Given the description of an element on the screen output the (x, y) to click on. 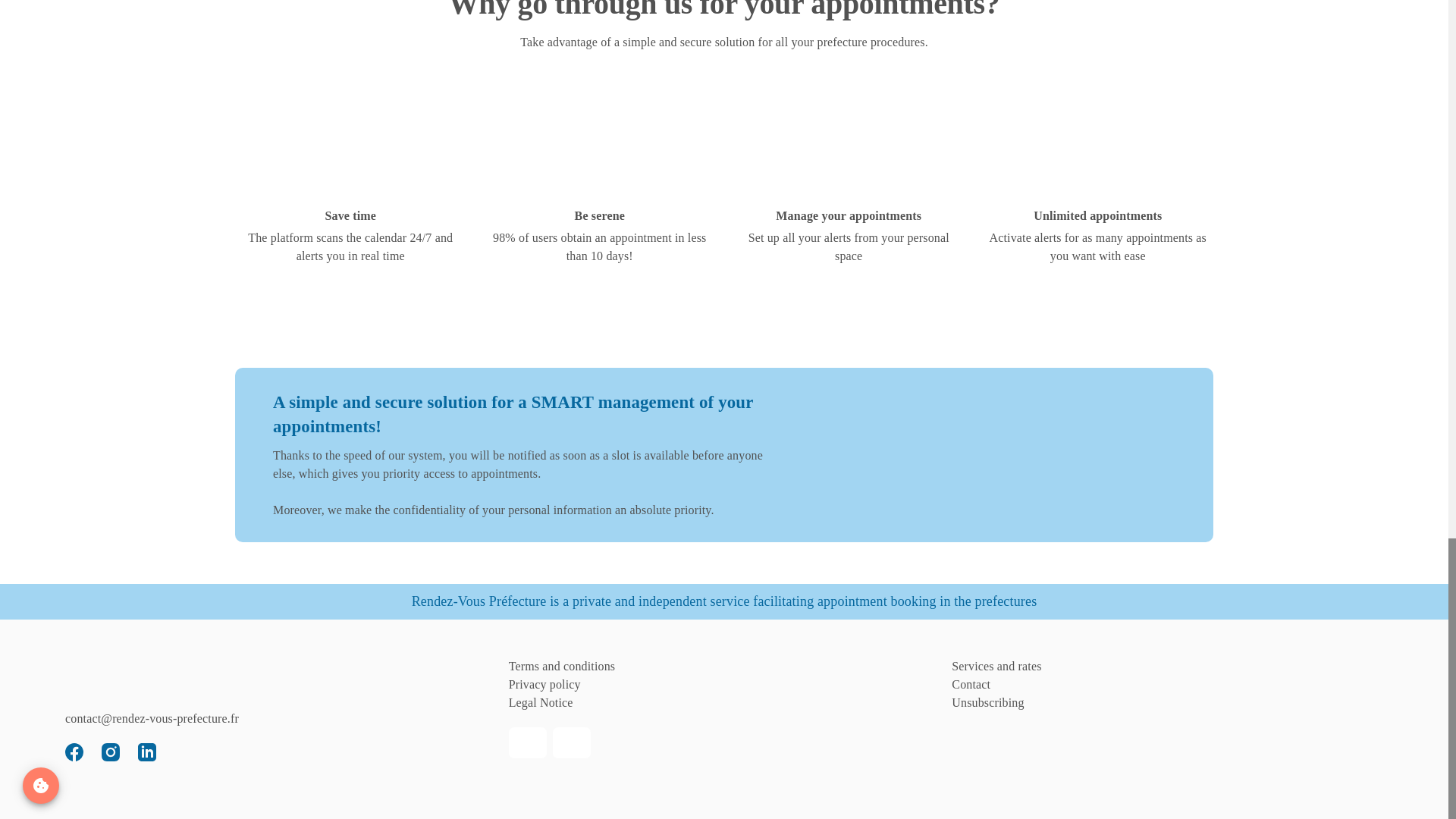
Customer reviews powered by Trustpilot (178, 700)
